Given the description of an element on the screen output the (x, y) to click on. 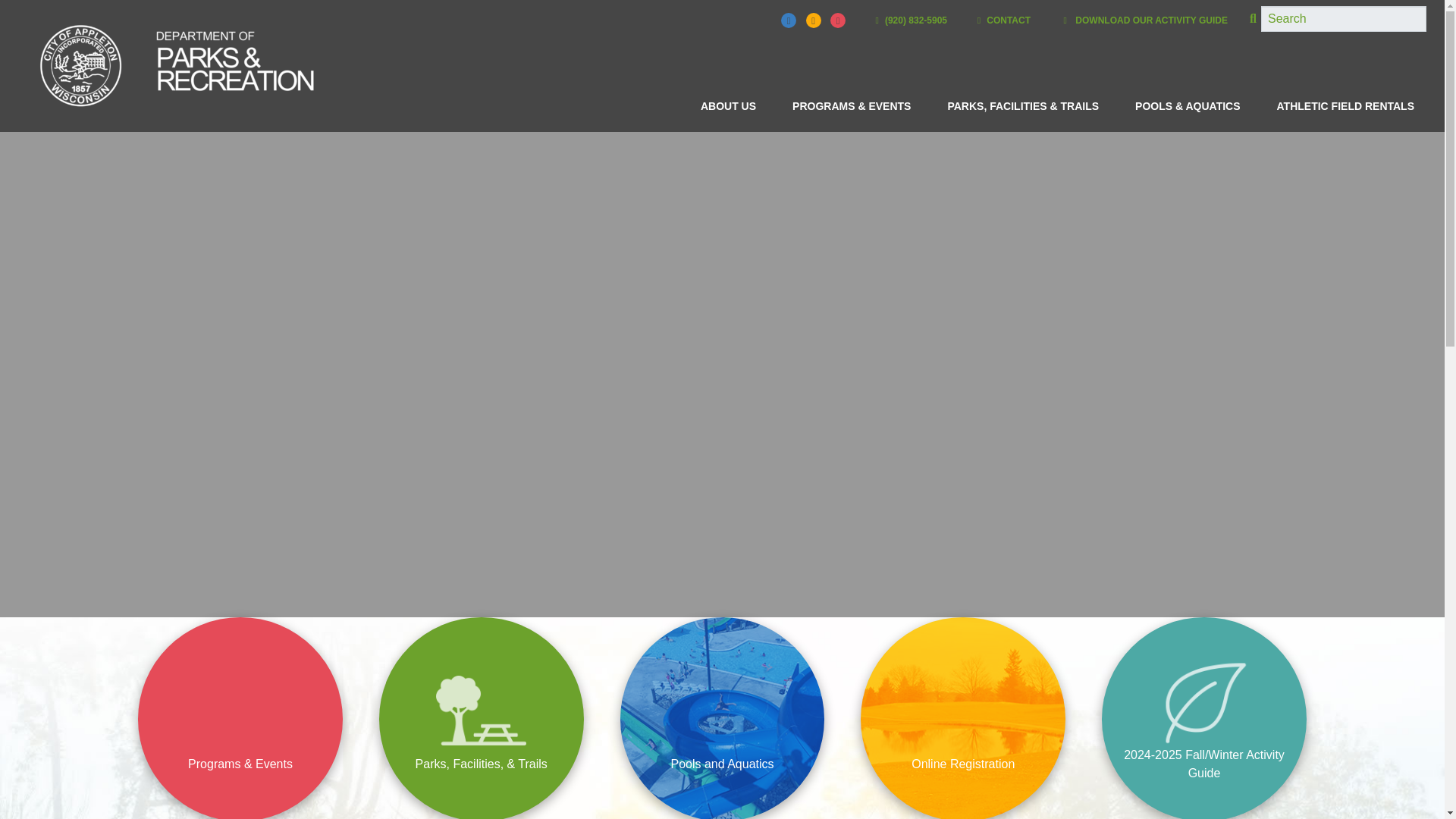
ABOUT US (727, 106)
About Us (727, 106)
